Given the description of an element on the screen output the (x, y) to click on. 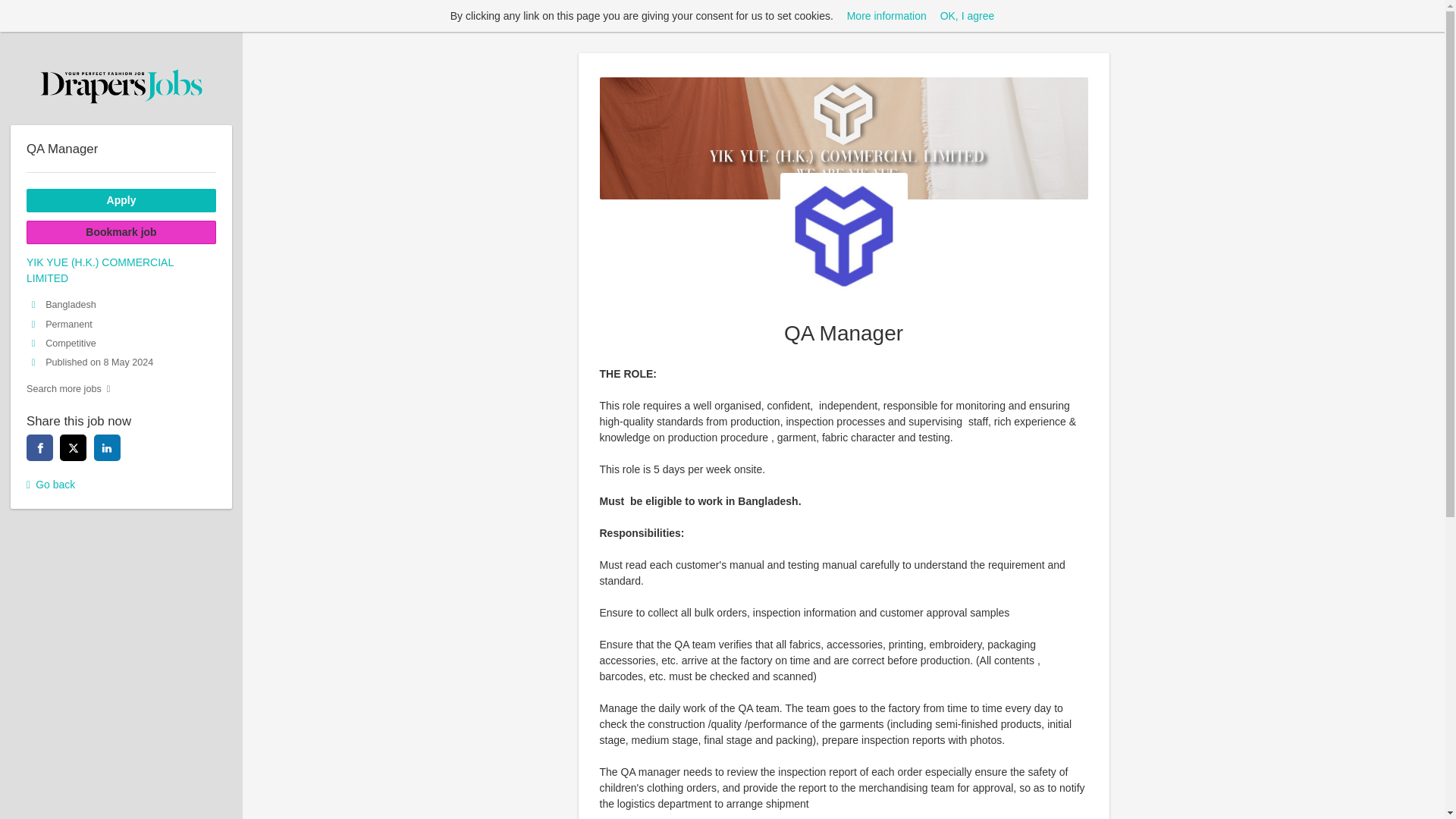
Go back (120, 484)
Apply (120, 200)
Apply (120, 200)
OK, I agree (967, 15)
More information (886, 15)
Bookmark job (120, 232)
Drapers Jobs (120, 85)
Search more jobs (120, 389)
Bookmark job (120, 232)
